Given the description of an element on the screen output the (x, y) to click on. 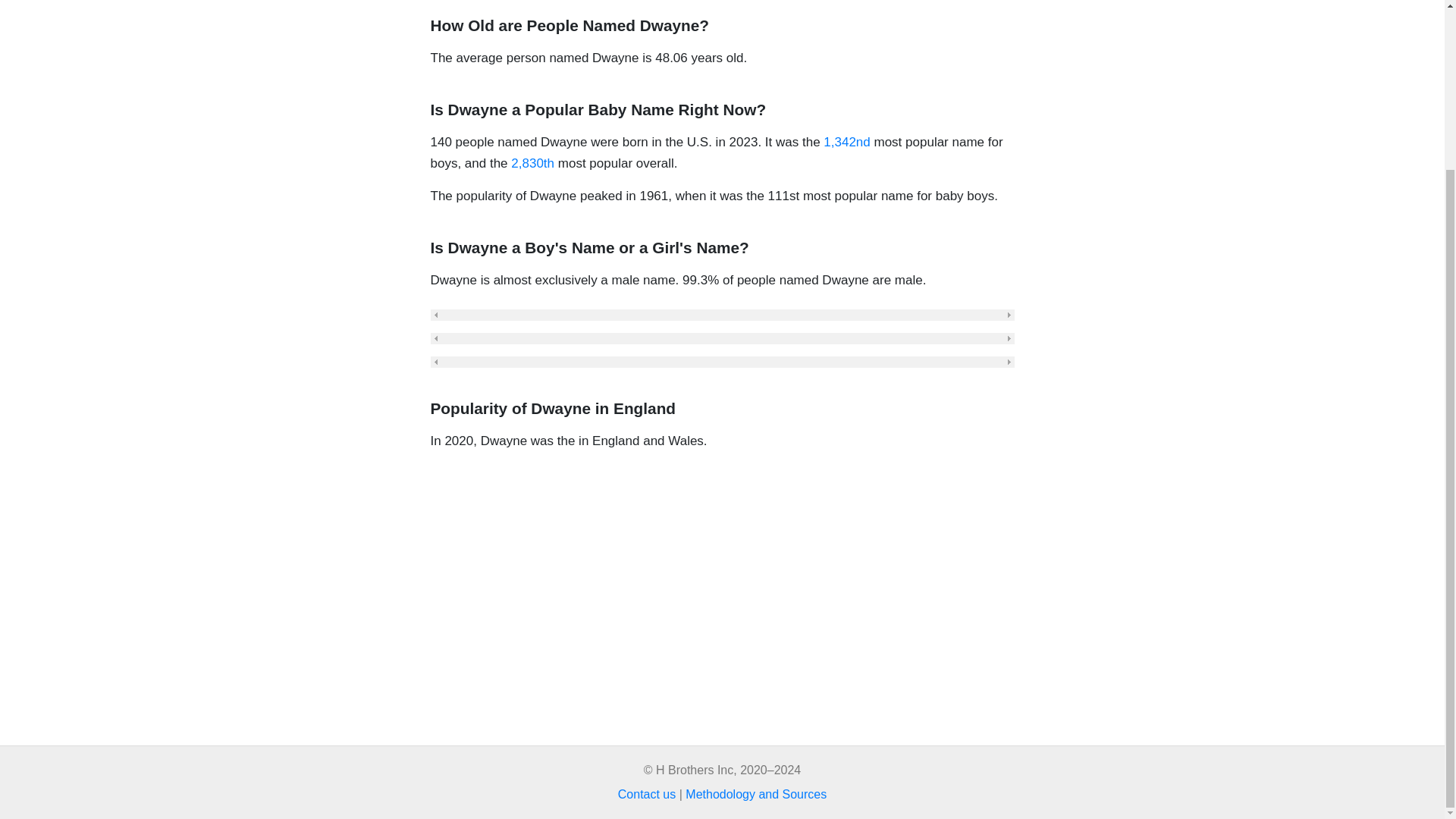
2,830th (532, 163)
1,342nd (846, 142)
Methodology and Sources (756, 793)
Contact us (646, 793)
